Given the description of an element on the screen output the (x, y) to click on. 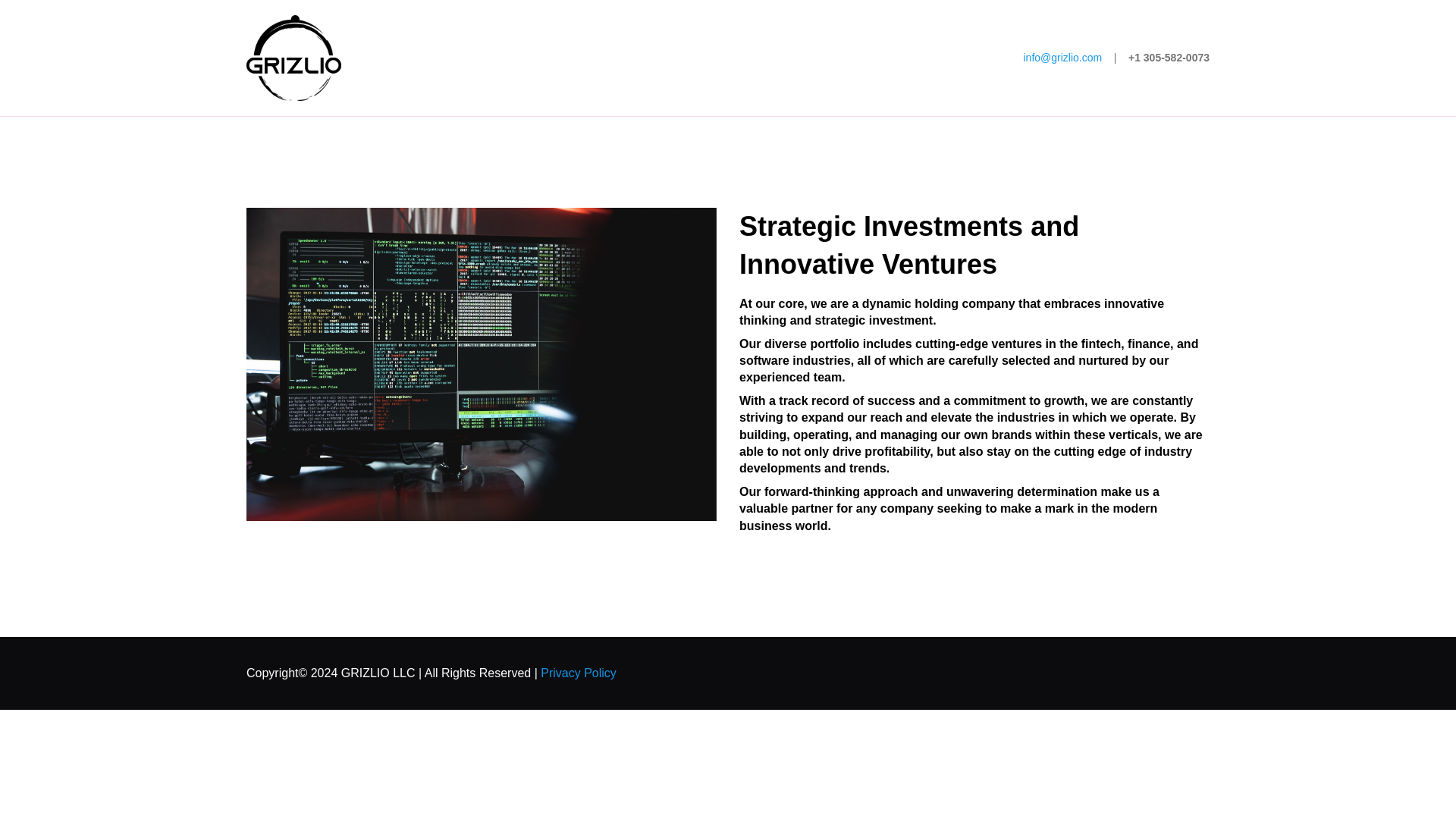
Privacy Policy (577, 672)
